Given the description of an element on the screen output the (x, y) to click on. 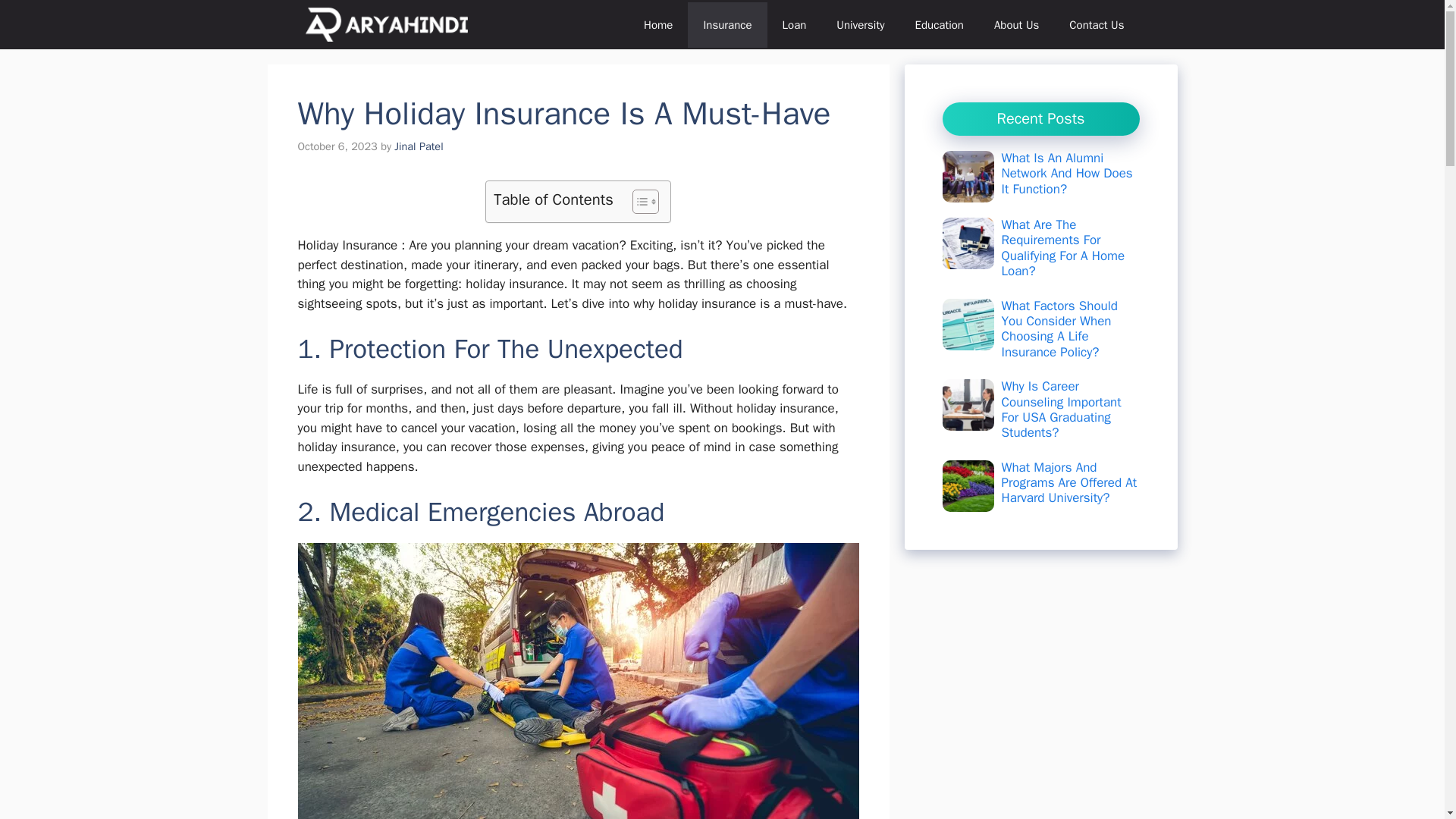
What Is An Alumni Network And How Does It Function? (1066, 173)
Jinal Patel (418, 146)
Contact Us (1096, 23)
About Us (1016, 23)
Aryahindi (385, 24)
Education (938, 23)
View all posts by Jinal Patel (418, 146)
Loan (794, 23)
